Given the description of an element on the screen output the (x, y) to click on. 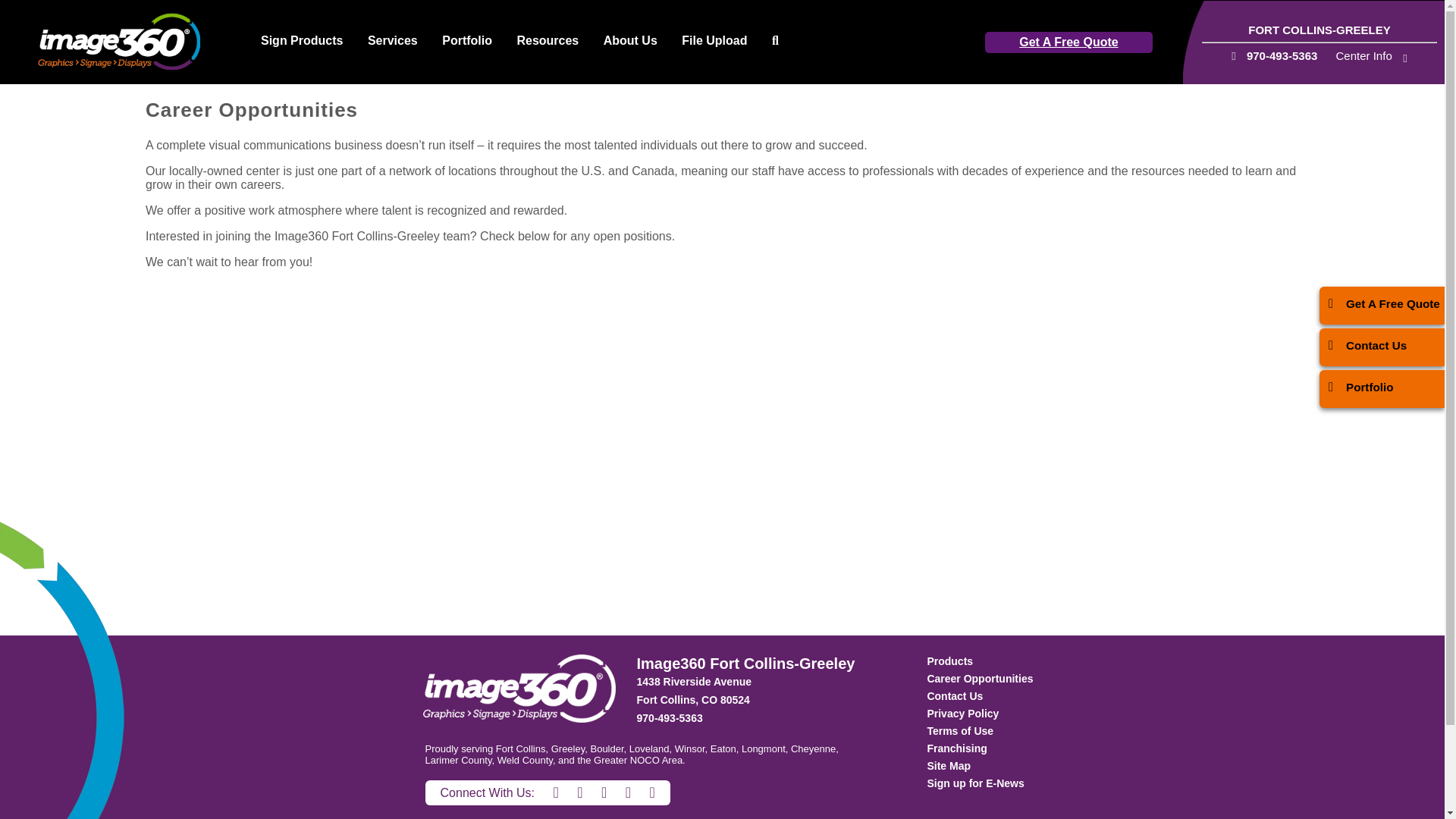
Search (775, 41)
Sign Products (301, 41)
